Given the description of an element on the screen output the (x, y) to click on. 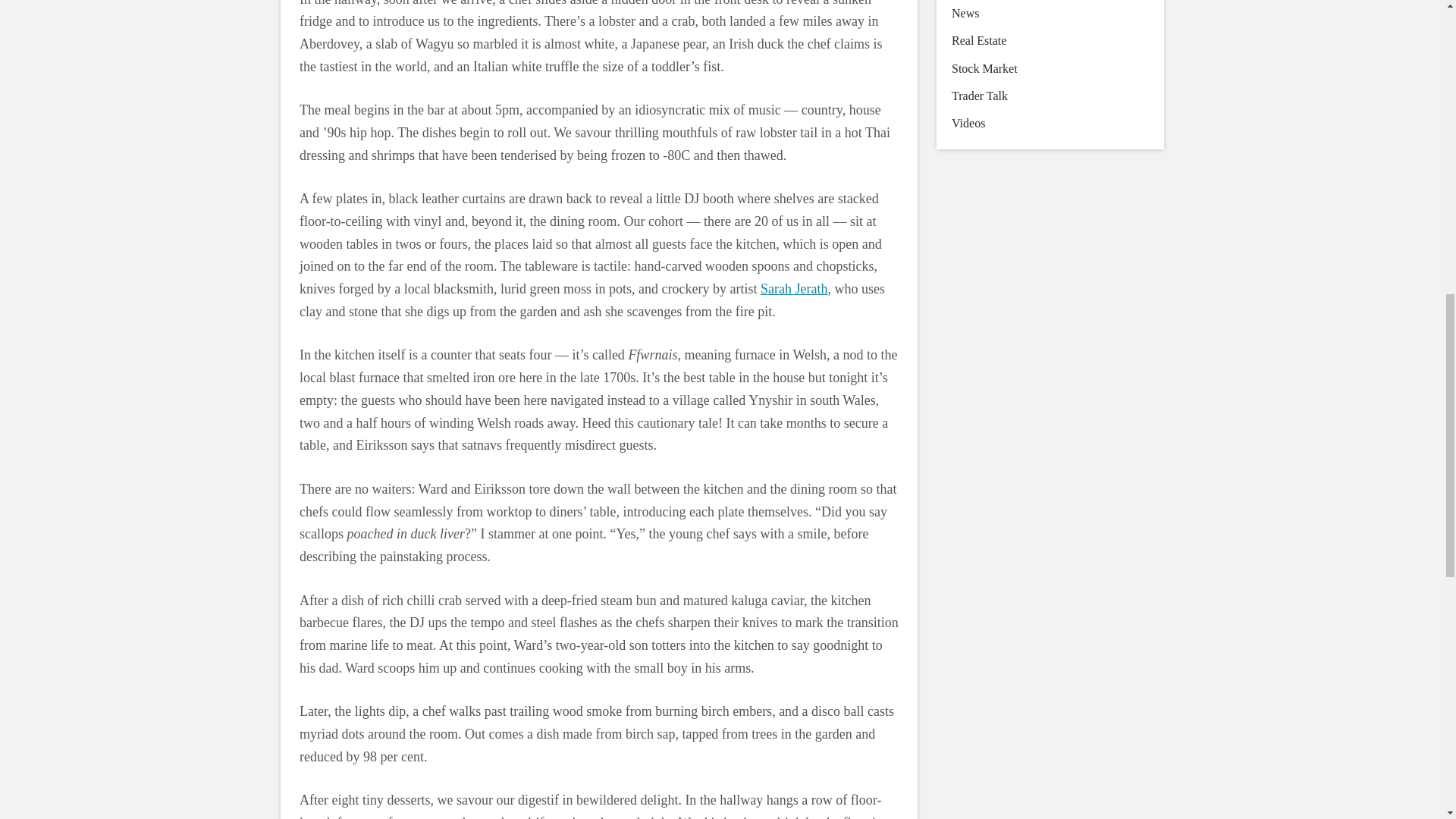
Sarah Jerath (793, 288)
